Given the description of an element on the screen output the (x, y) to click on. 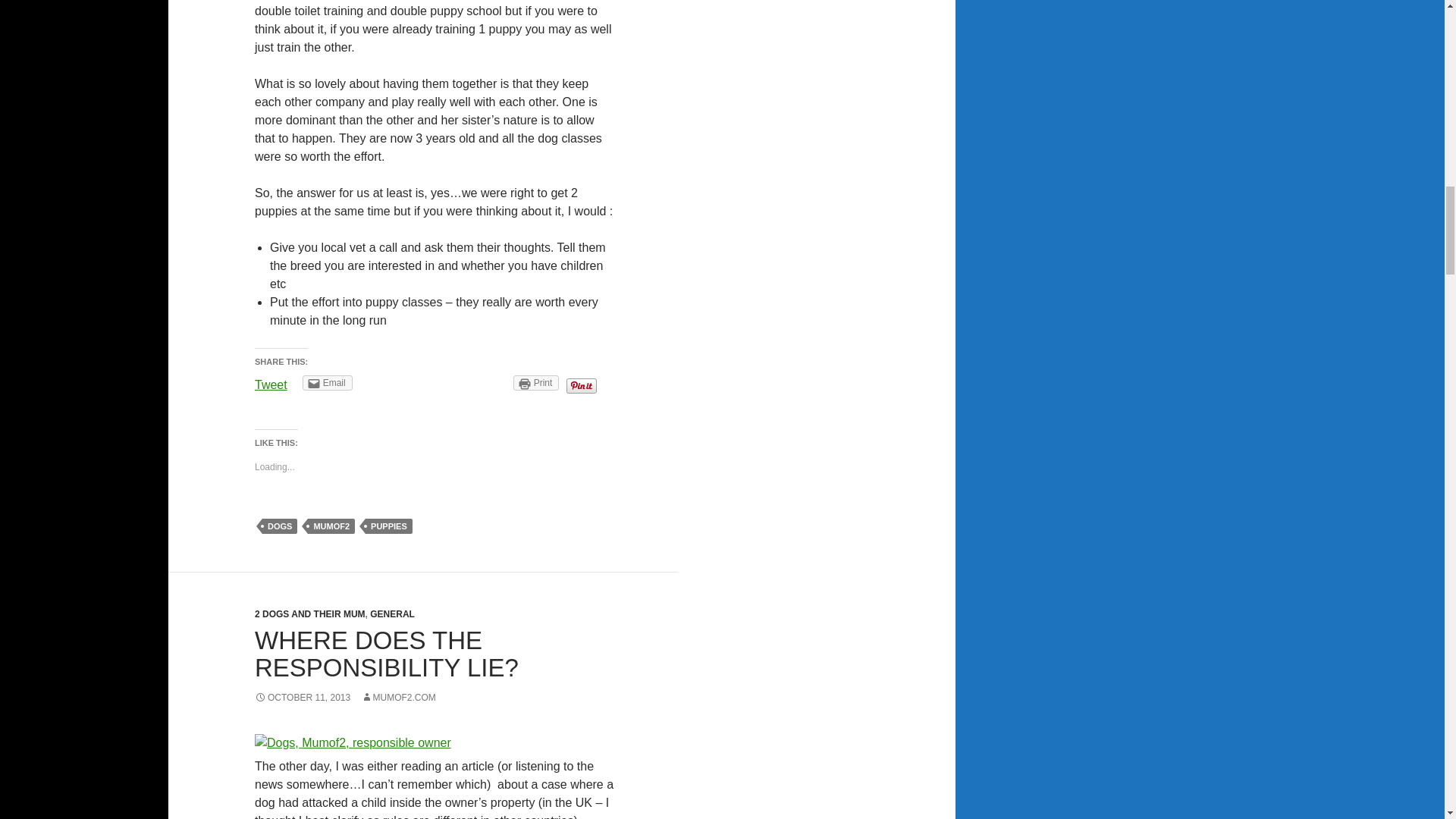
Share on Tumblr (481, 382)
Click to print (536, 382)
Email (327, 382)
Share on Tumblr (481, 382)
Tweet (270, 384)
Click to email this to a friend (327, 382)
